Given the description of an element on the screen output the (x, y) to click on. 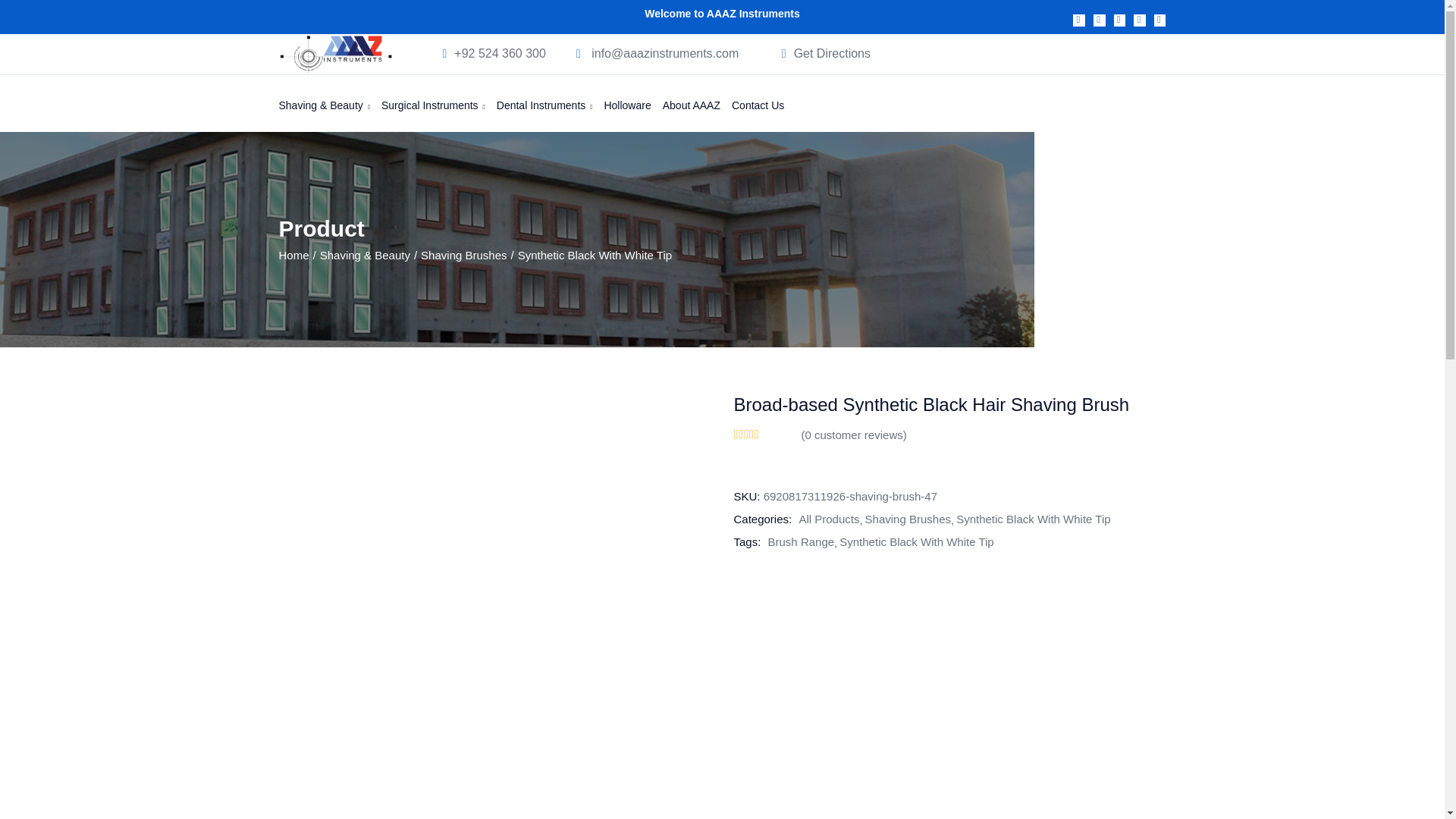
Get Directions (831, 52)
Dental Instruments (550, 99)
Surgical Instruments (438, 99)
